Given the description of an element on the screen output the (x, y) to click on. 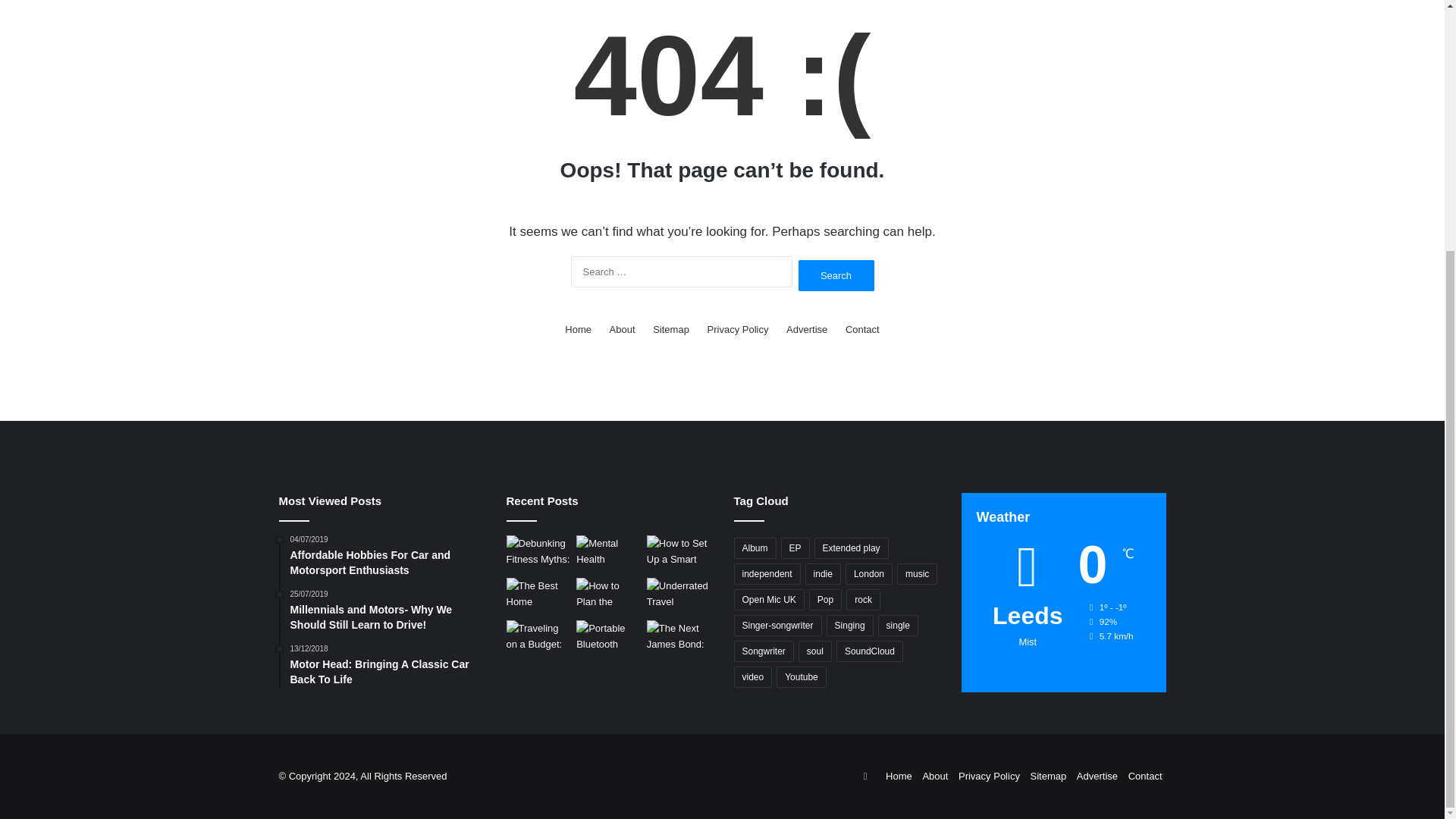
Search (835, 275)
Traveling on a Budget: Tips and Tricks - Unfashionablemale (538, 637)
Sitemap (670, 329)
How to Set Up a Smart Home on a Budget - Unfashionablemale (678, 553)
Search (835, 275)
How to Plan the Perfect Staycation - Unfashionablemale (608, 596)
Home (577, 329)
Underrated Travel Destinations in Europe - Unfashionablemale (678, 596)
Search (835, 275)
About (622, 329)
